Given the description of an element on the screen output the (x, y) to click on. 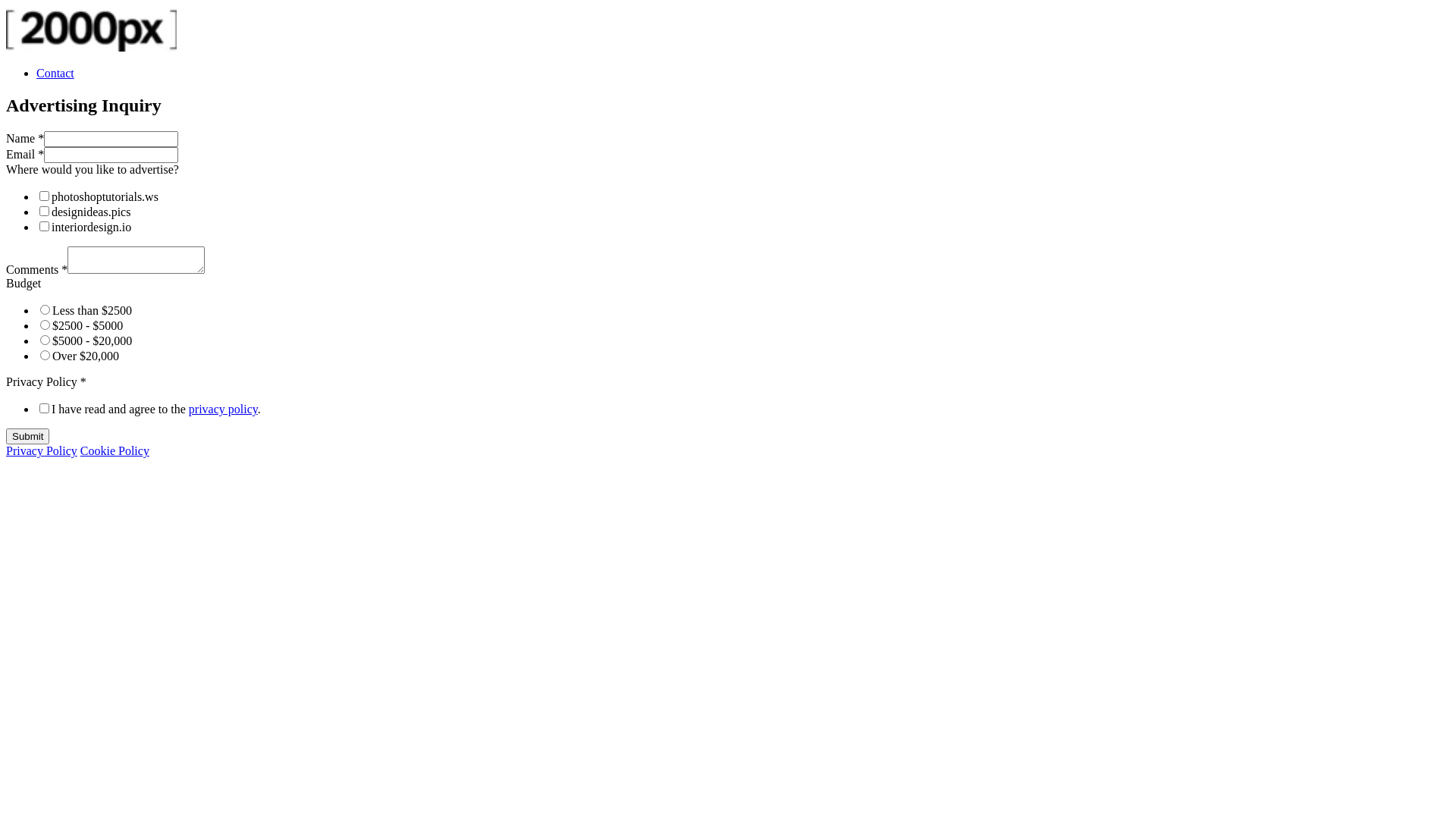
Contact Element type: text (55, 72)
Cookie Policy Element type: text (114, 450)
privacy policy Element type: text (222, 408)
Privacy Policy Element type: text (41, 450)
Submit Element type: text (27, 436)
